Given the description of an element on the screen output the (x, y) to click on. 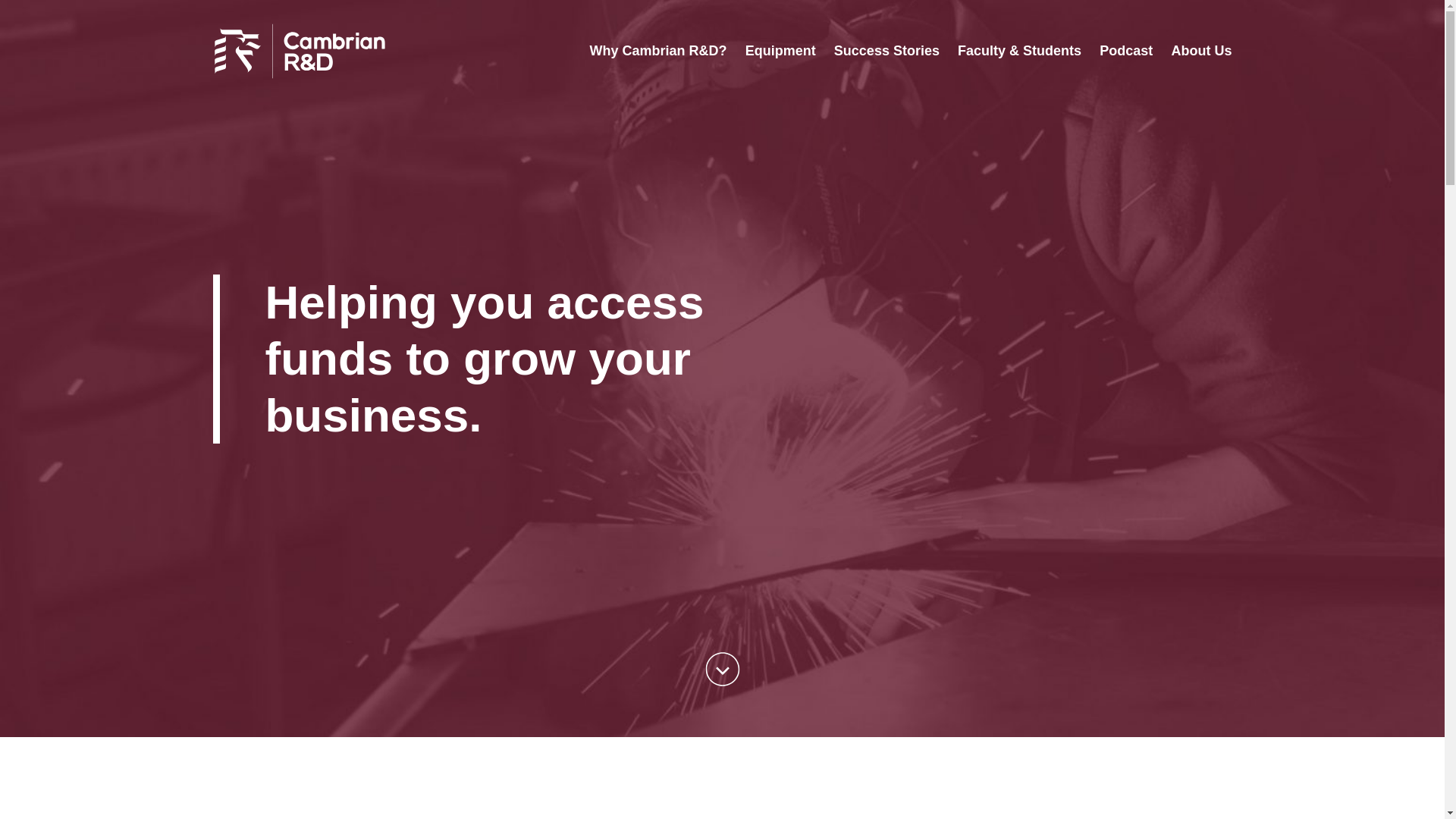
Success Stories (886, 51)
About Us (1200, 51)
Equipment (780, 51)
Podcast (1126, 51)
